Given the description of an element on the screen output the (x, y) to click on. 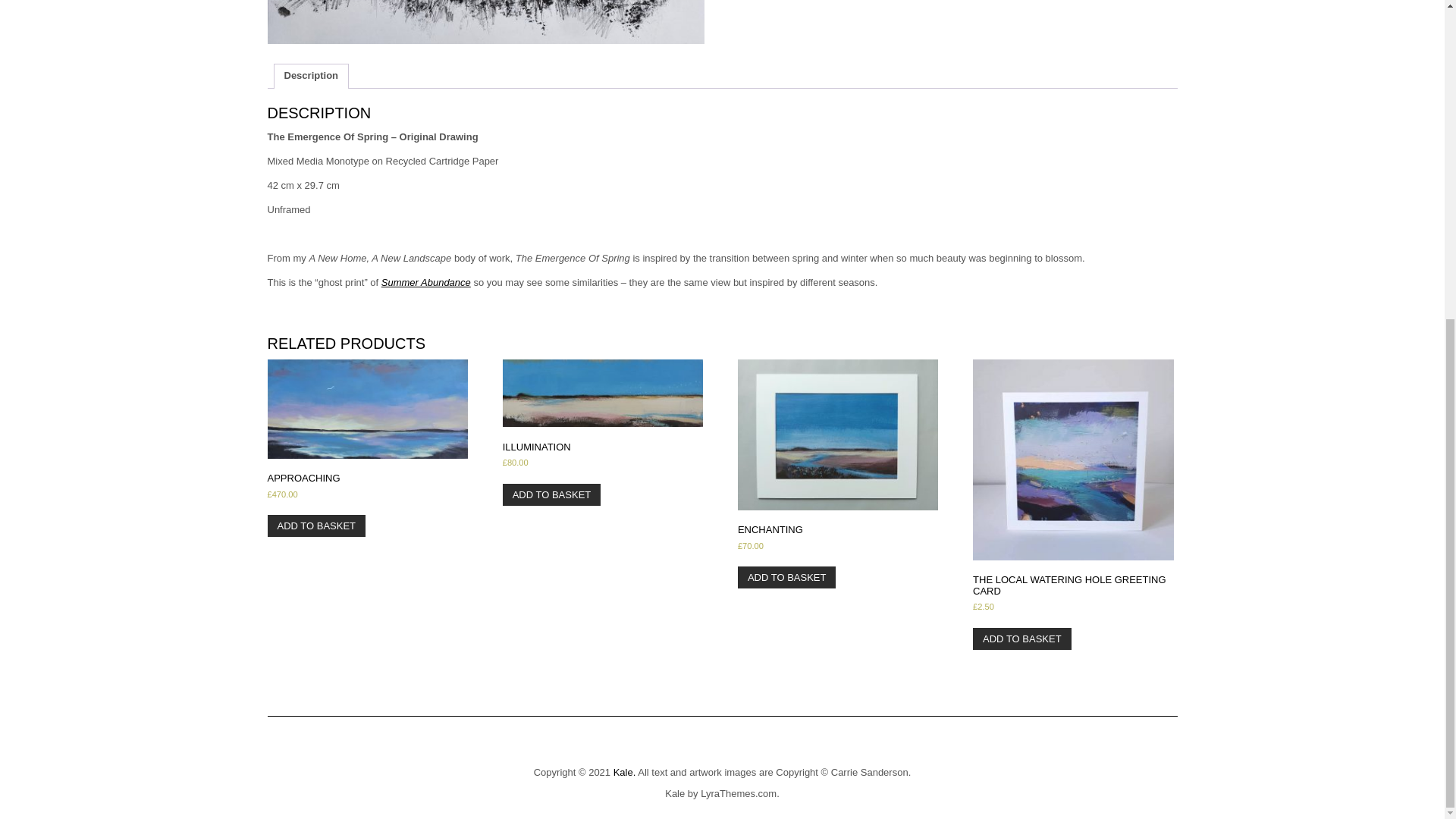
ADD TO BASKET (315, 526)
Kale. (624, 772)
ADD TO BASKET (551, 495)
Summer Abundance (425, 282)
Kale (674, 793)
ADD TO BASKET (1021, 639)
ADD TO BASKET (786, 577)
Description (310, 76)
